Given the description of an element on the screen output the (x, y) to click on. 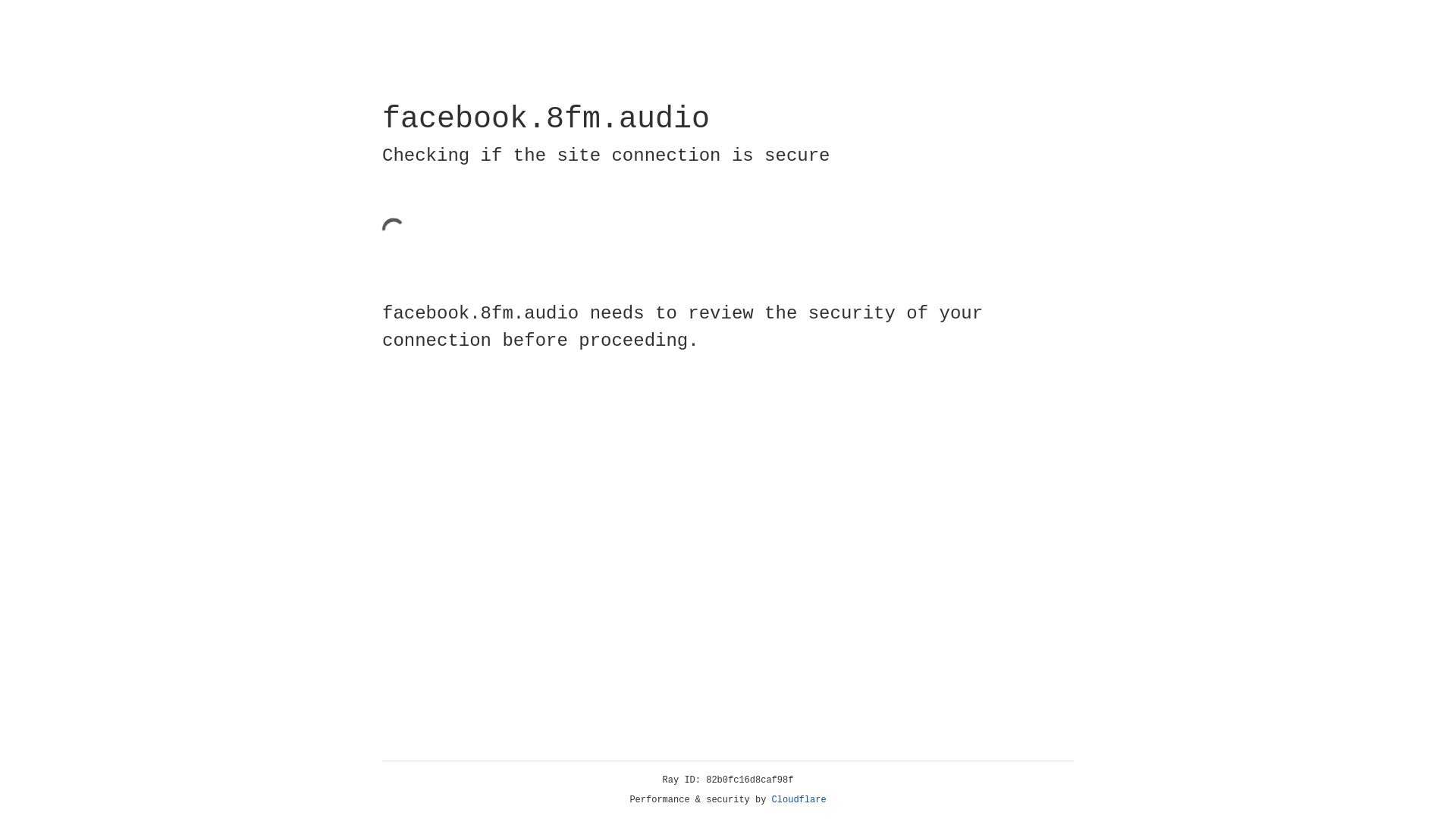
Cloudflare Element type: text (798, 799)
